Given the description of an element on the screen output the (x, y) to click on. 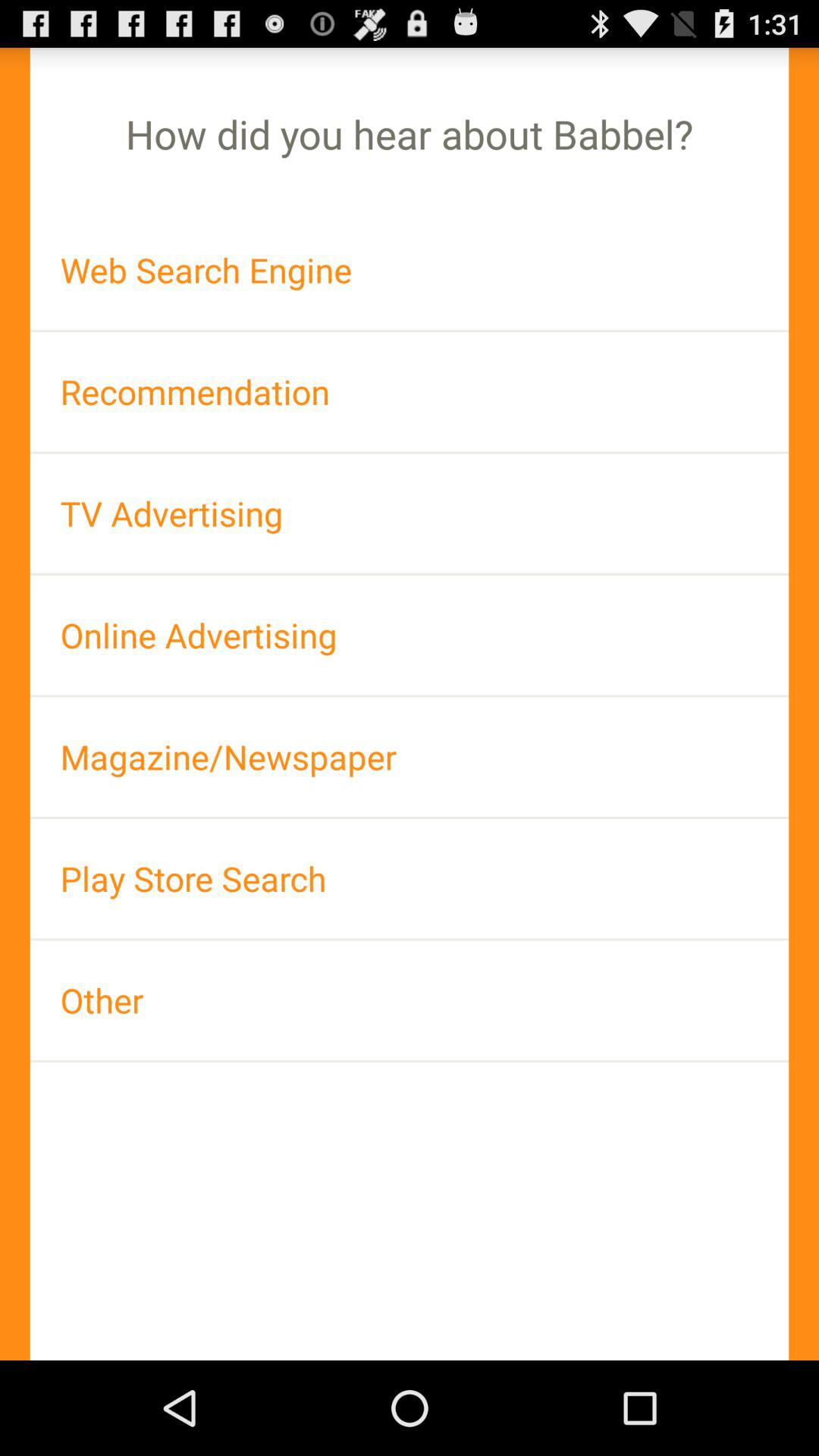
open app above the play store search item (409, 756)
